Given the description of an element on the screen output the (x, y) to click on. 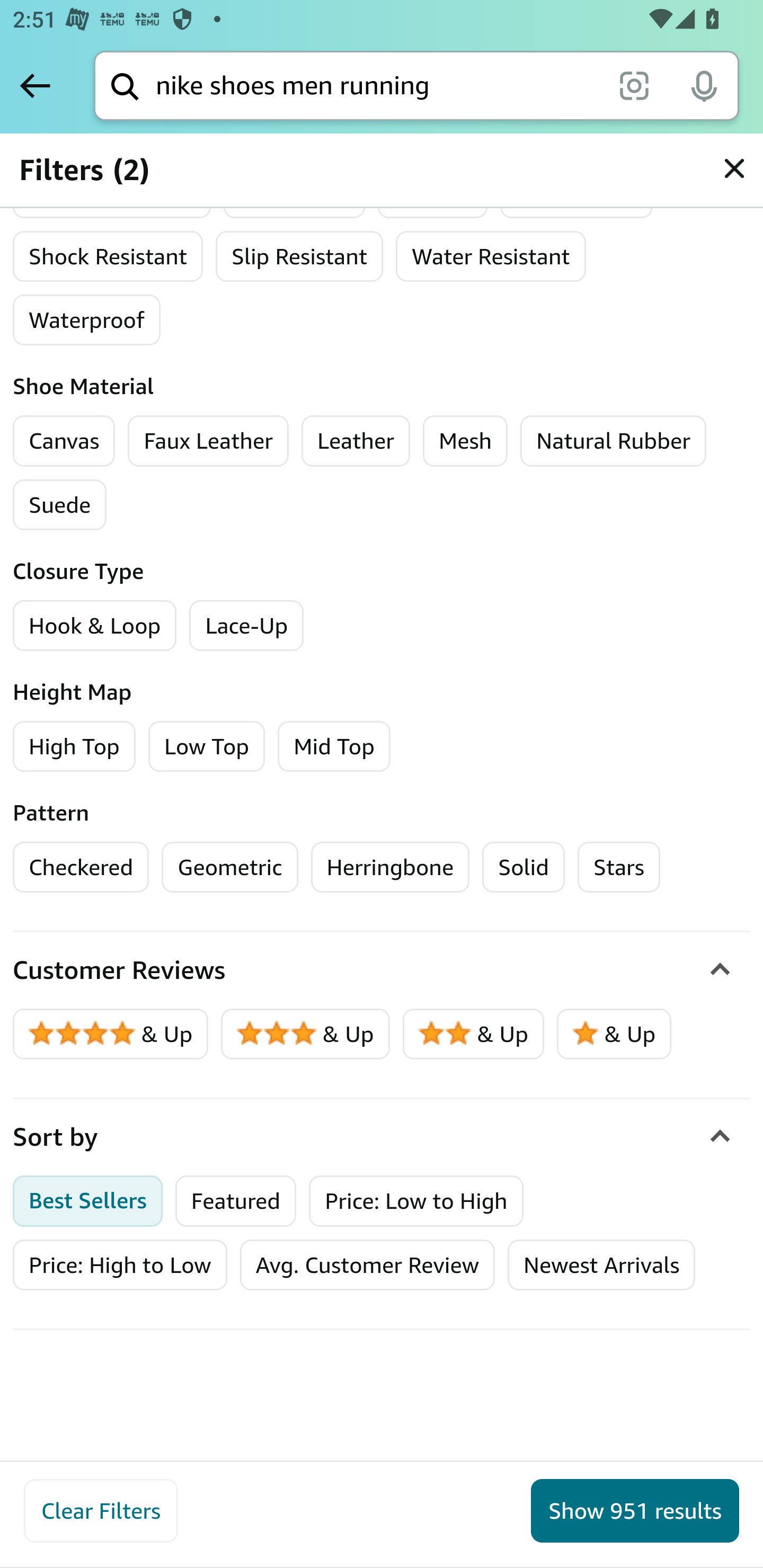
Back (35, 85)
scan it (633, 85)
Shock Resistant (107, 256)
Slip Resistant (299, 256)
Water Resistant (490, 256)
Waterproof (86, 320)
Canvas (63, 441)
Faux Leather (208, 441)
Leather (355, 441)
Mesh (464, 441)
Natural Rubber (613, 441)
Suede (60, 504)
Hook & Loop (94, 625)
Lace-Up (247, 625)
High Top (74, 746)
Low Top (206, 746)
Mid Top (333, 746)
Checkered (80, 866)
Geometric (229, 866)
Herringbone (389, 866)
Solid (523, 866)
Stars (618, 866)
Customer Reviews (381, 970)
4 Stars & Up (110, 1033)
3 Stars & Up (305, 1033)
2 Stars & Up (473, 1033)
1 Star & Up (614, 1033)
Sort by (381, 1136)
Featured (235, 1200)
Price: Low to High (416, 1200)
Price: High to Low (119, 1264)
Avg. Customer Review (366, 1264)
Newest Arrivals (601, 1264)
Clear Filters (100, 1510)
Show 951 results (635, 1510)
